Given the description of an element on the screen output the (x, y) to click on. 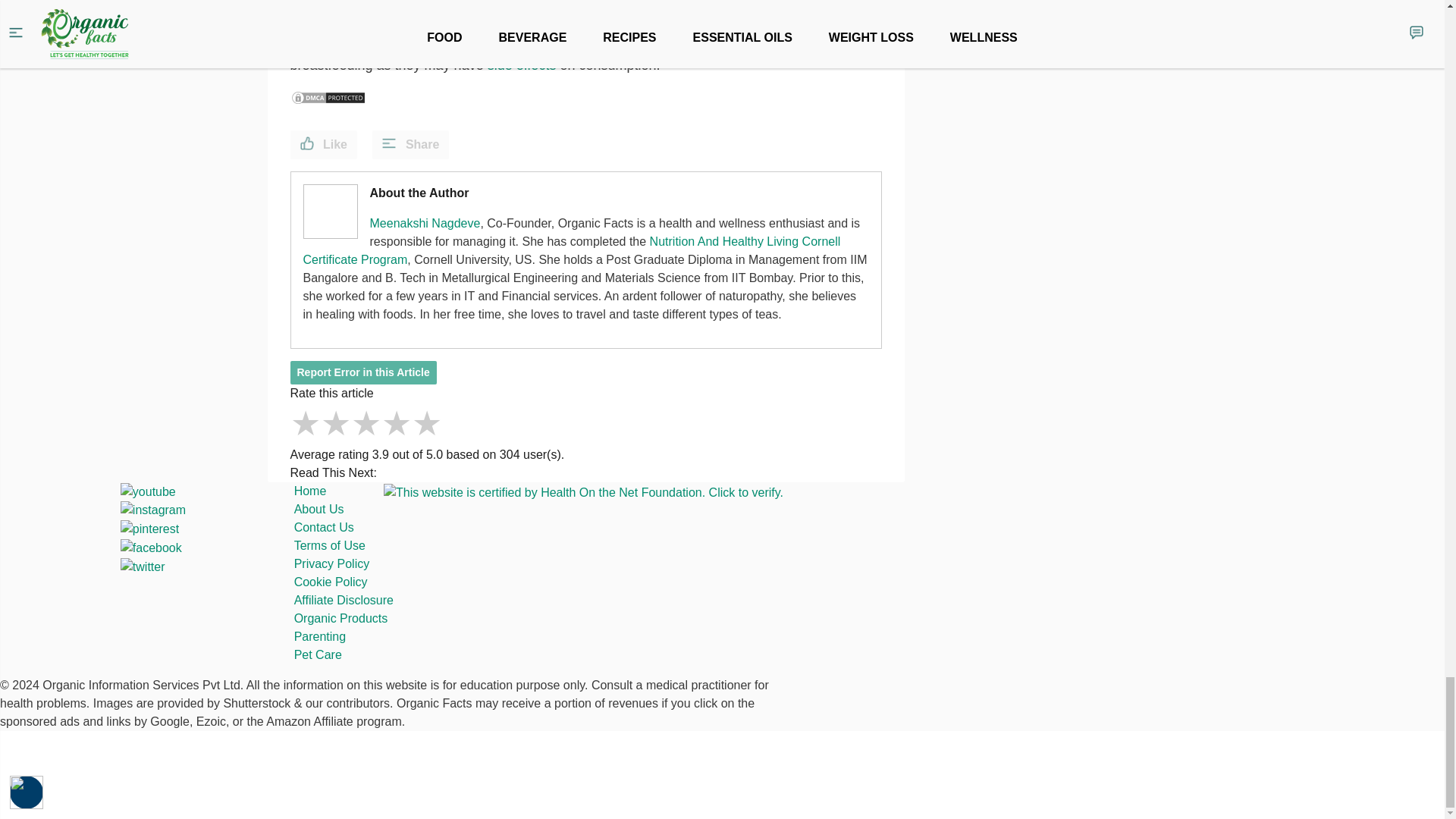
Affiliate Disclosure (343, 599)
Organic Products (341, 617)
Parenting (320, 635)
Privacy Policy (331, 563)
Cookie Policy (331, 581)
Contact Us (323, 526)
Pet Care (318, 654)
About Us (318, 508)
Terms of Use (329, 545)
Home (310, 490)
DMCA.com Protection Status (327, 96)
